Given the description of an element on the screen output the (x, y) to click on. 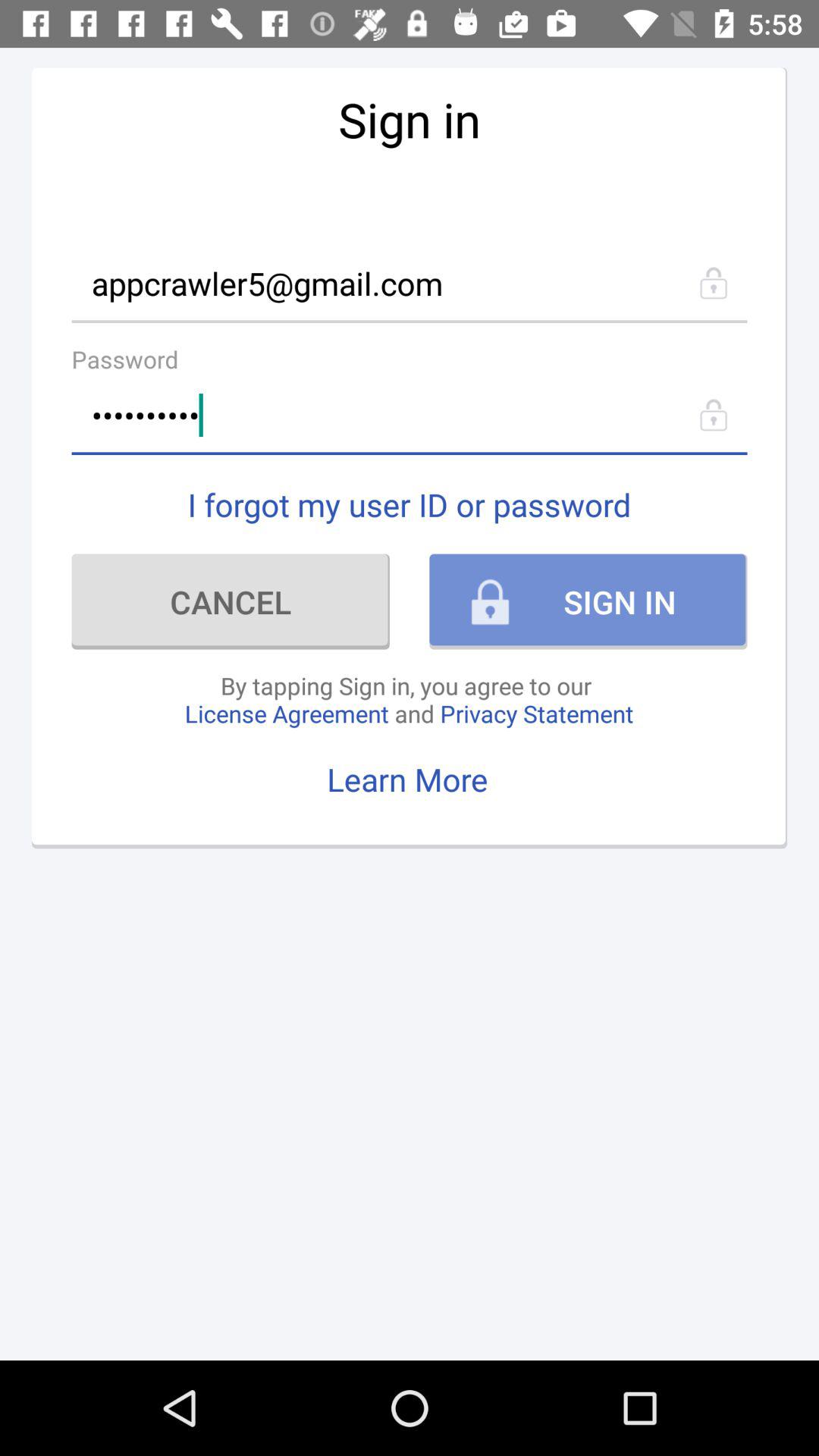
turn on item below the i forgot my (230, 601)
